Given the description of an element on the screen output the (x, y) to click on. 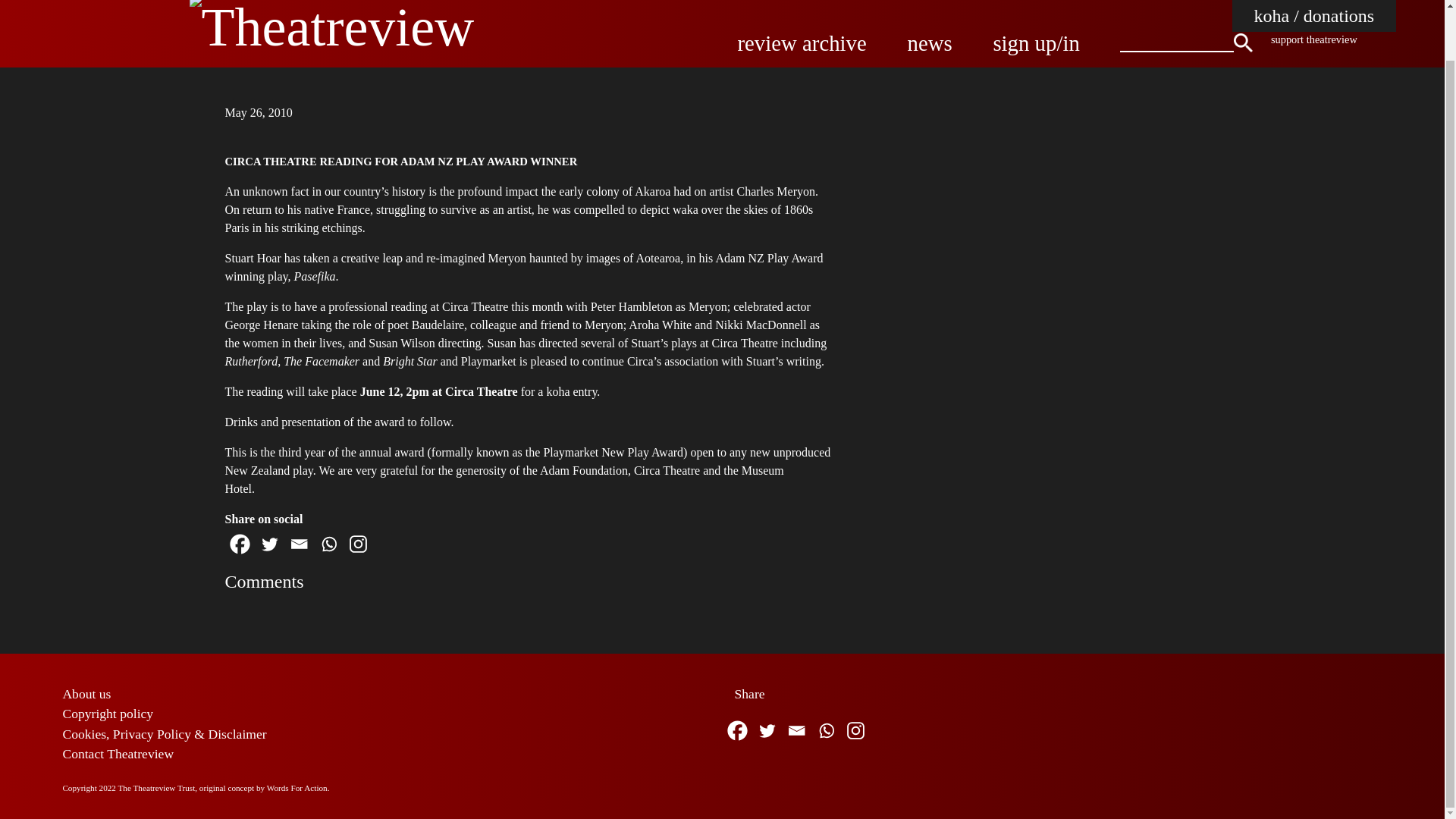
Facebook (238, 543)
Contact Theatreview (117, 753)
About us (86, 693)
news (929, 43)
Whatsapp (826, 730)
Email (298, 543)
Instagram (357, 543)
Facebook (736, 730)
Whatsapp (328, 543)
review archive (801, 43)
Email (796, 730)
Instagram (854, 730)
Twitter (269, 543)
Copyright policy (107, 713)
Twitter (767, 730)
